Given the description of an element on the screen output the (x, y) to click on. 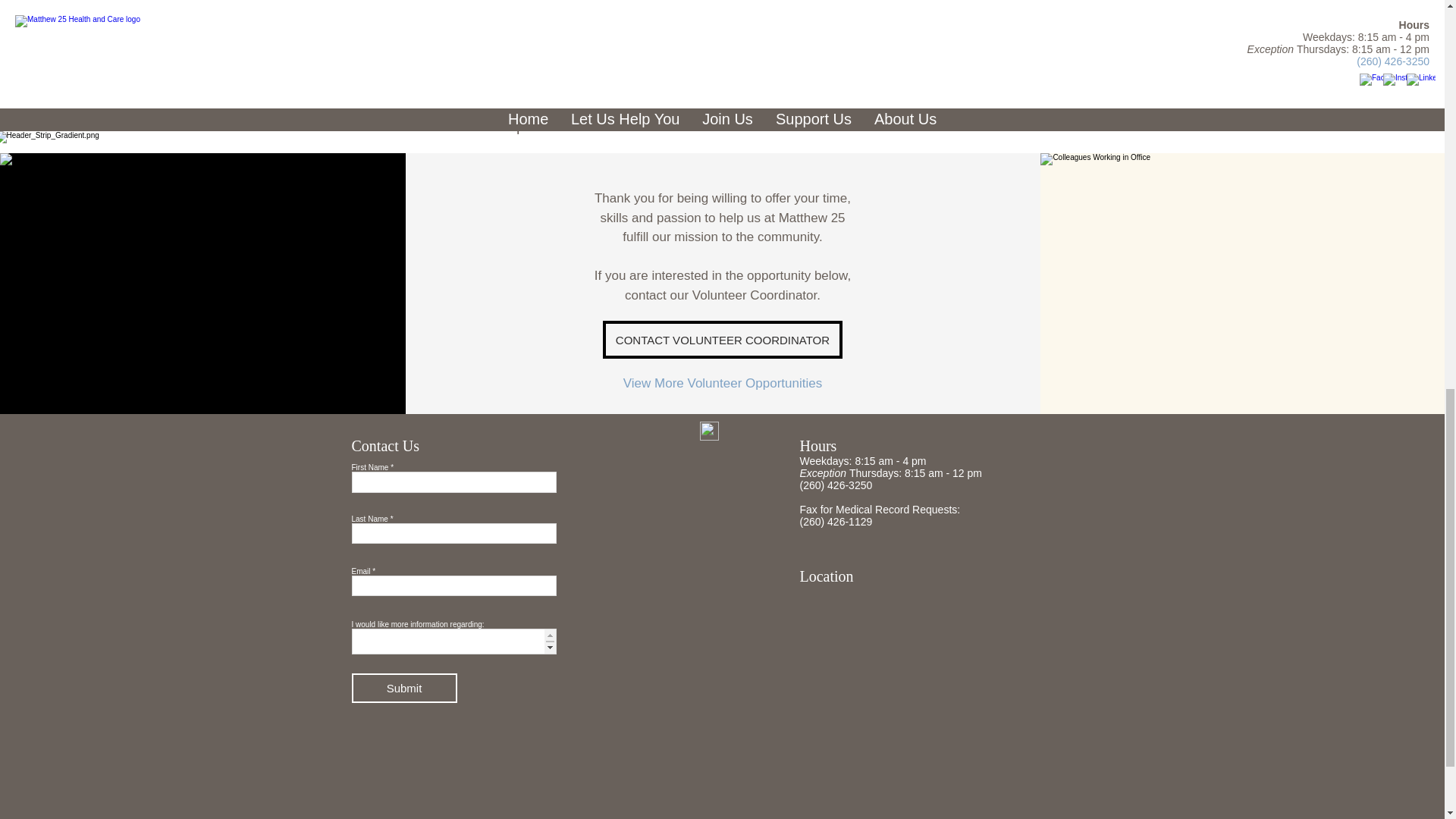
View More Volunteer Opportunities (722, 382)
Submit (404, 687)
CONTACT VOLUNTEER COORDINATOR (722, 339)
